Given the description of an element on the screen output the (x, y) to click on. 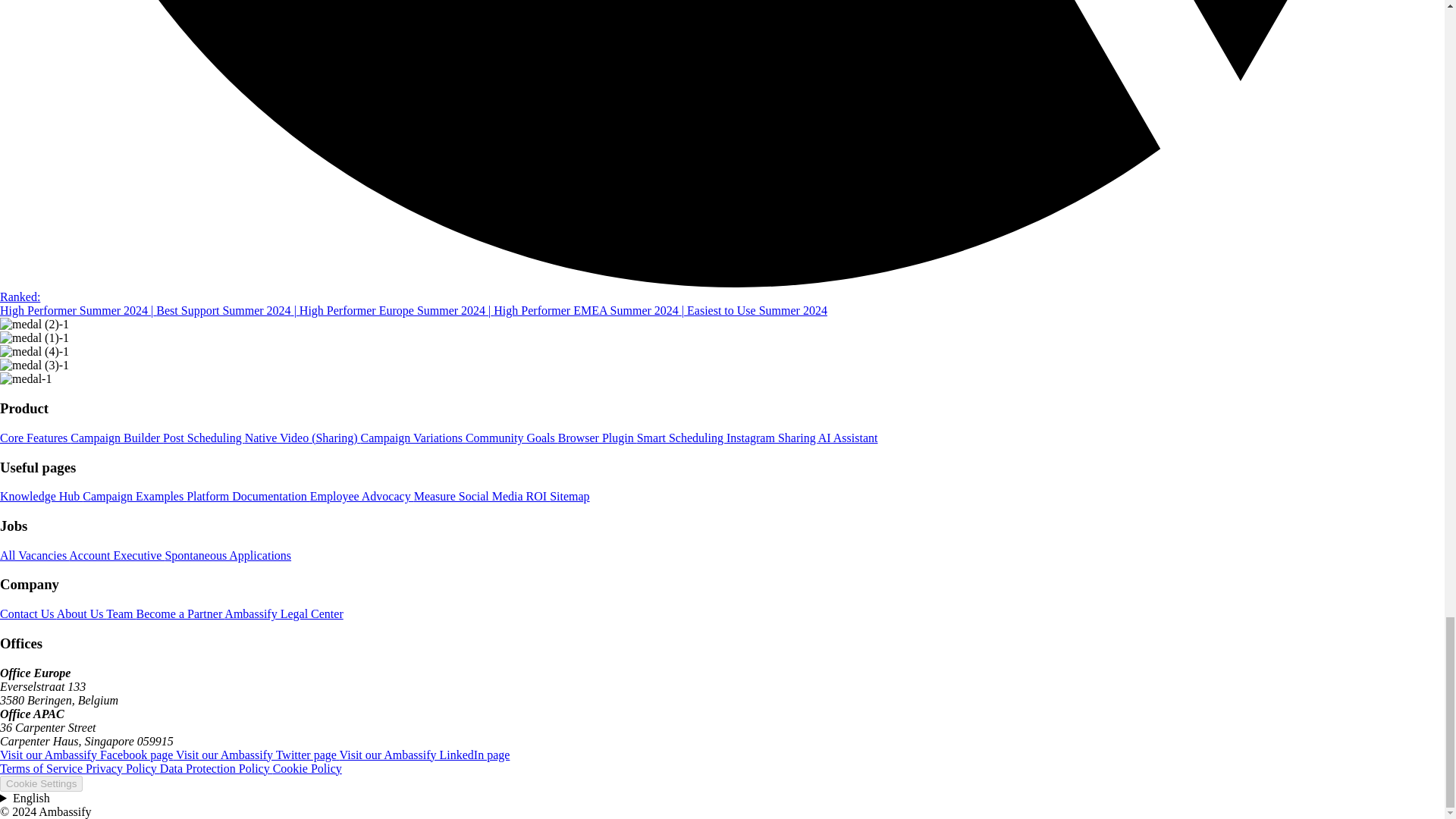
Visit our Ambassify Twitter page (257, 754)
Visit our Ambassify LinkedIn page (425, 754)
Visit our Ambassify Facebook page (88, 754)
